Given the description of an element on the screen output the (x, y) to click on. 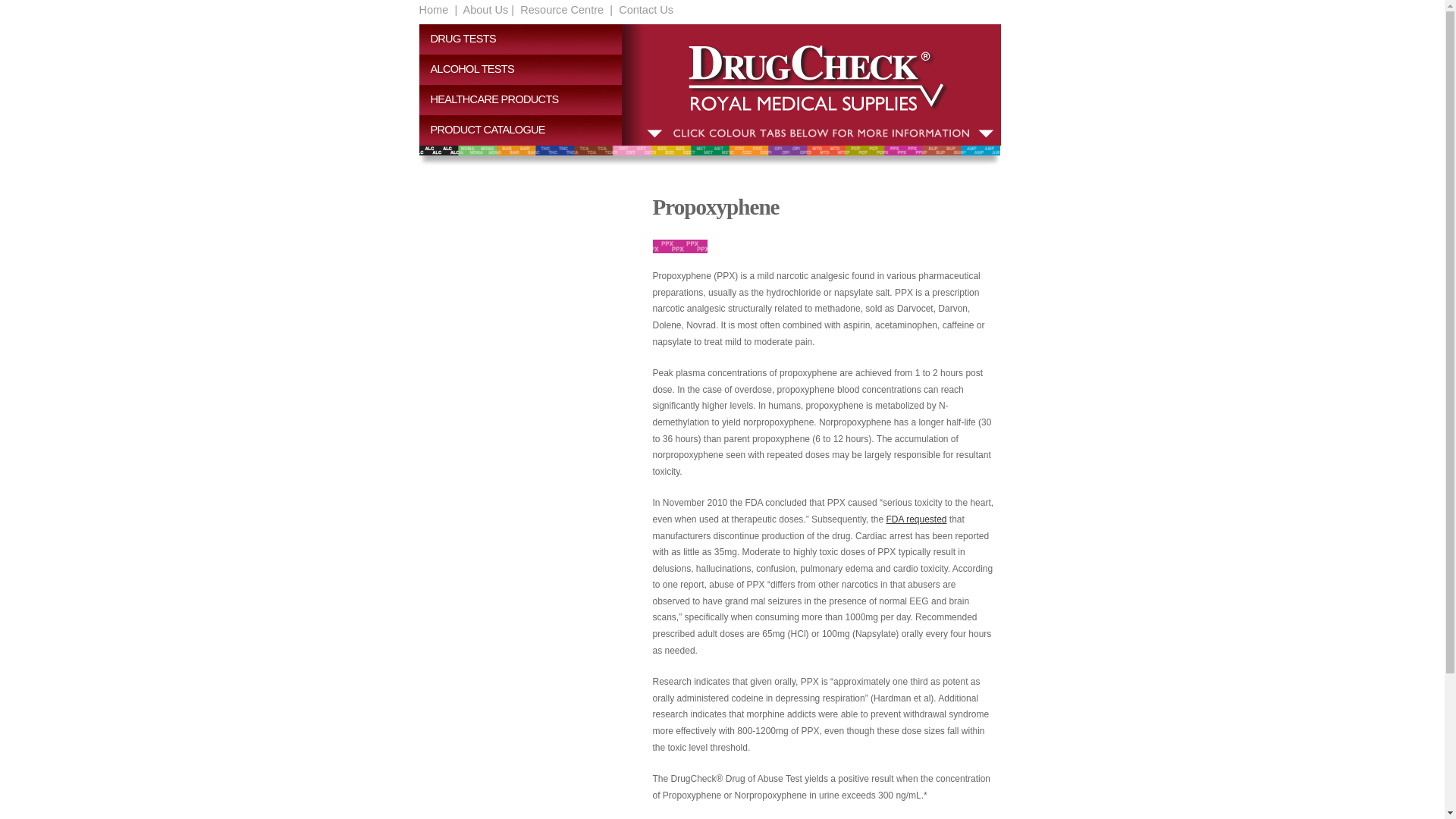
 Resource Centre  | Element type: text (564, 9)
DRUG TESTS Element type: text (526, 39)
 About Us | Element type: text (487, 9)
HEALTHCARE PRODUCTS Element type: text (526, 99)
FDA requested Element type: text (915, 519)
PRODUCT CATALOGUE Element type: text (526, 130)
ALCOHOL TESTS Element type: text (526, 69)
 Contact Us Element type: text (644, 9)
Home  | Element type: text (437, 9)
